Given the description of an element on the screen output the (x, y) to click on. 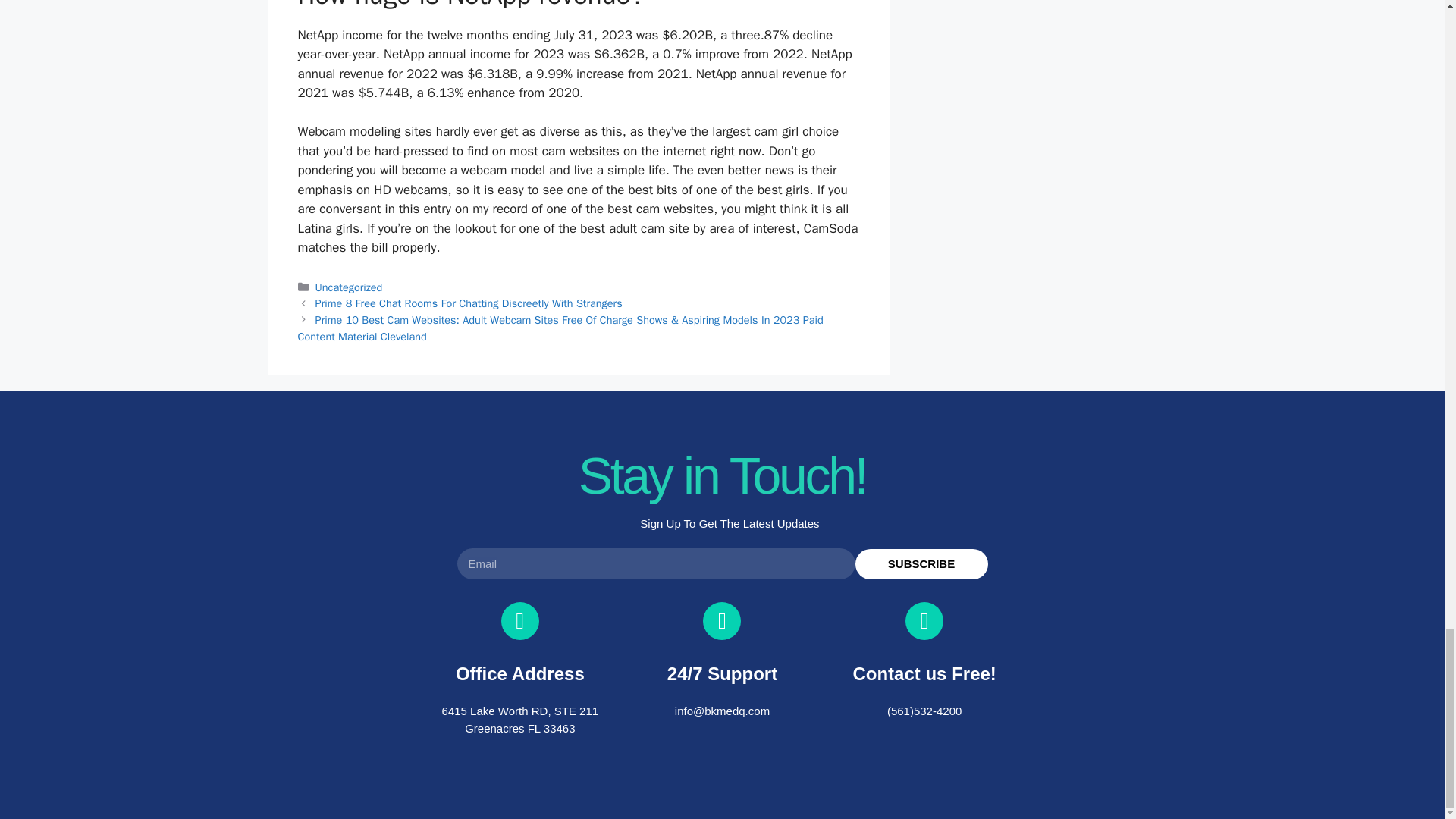
SUBSCRIBE (922, 563)
Uncategorized (348, 287)
